Given the description of an element on the screen output the (x, y) to click on. 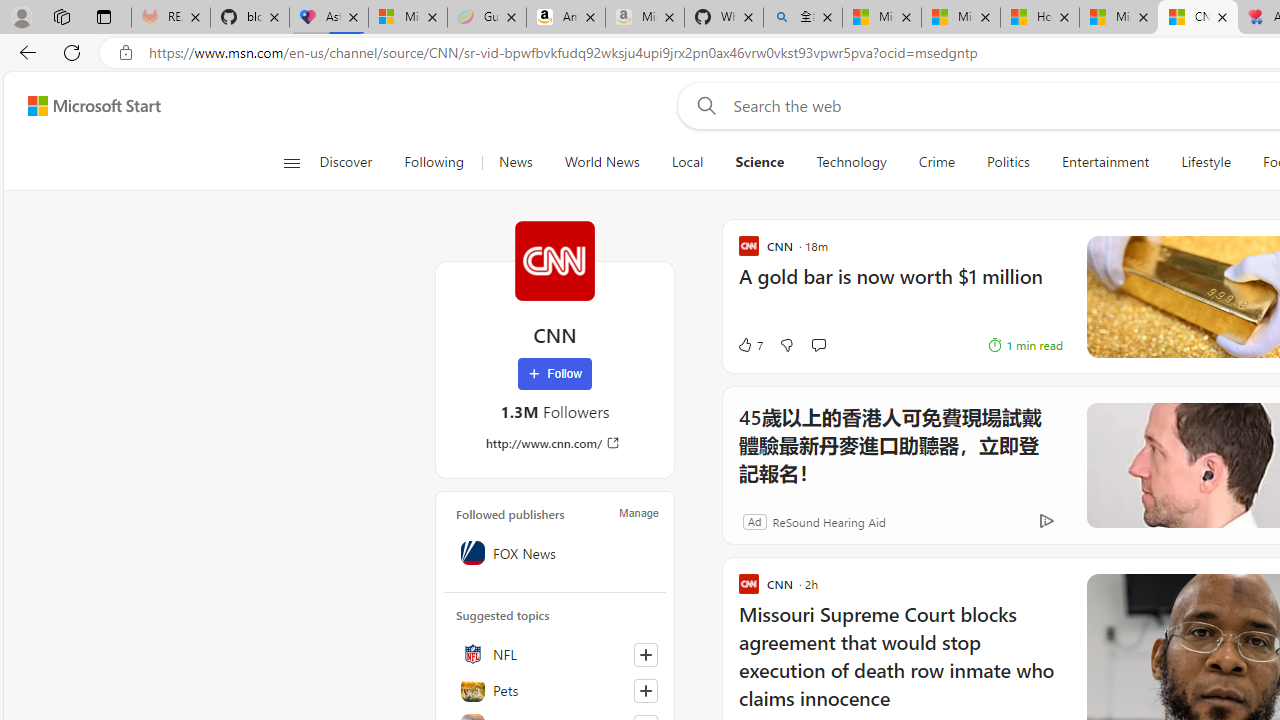
Crime (936, 162)
News (514, 162)
Skip to footer (82, 105)
Class: button-glyph (290, 162)
Follow this topic (645, 690)
Technology (851, 162)
Science (760, 162)
Entertainment (1105, 162)
http://www.cnn.com/ (554, 443)
Dislike (786, 344)
Discover (353, 162)
A gold bar is now worth $1 million (900, 286)
